Given the description of an element on the screen output the (x, y) to click on. 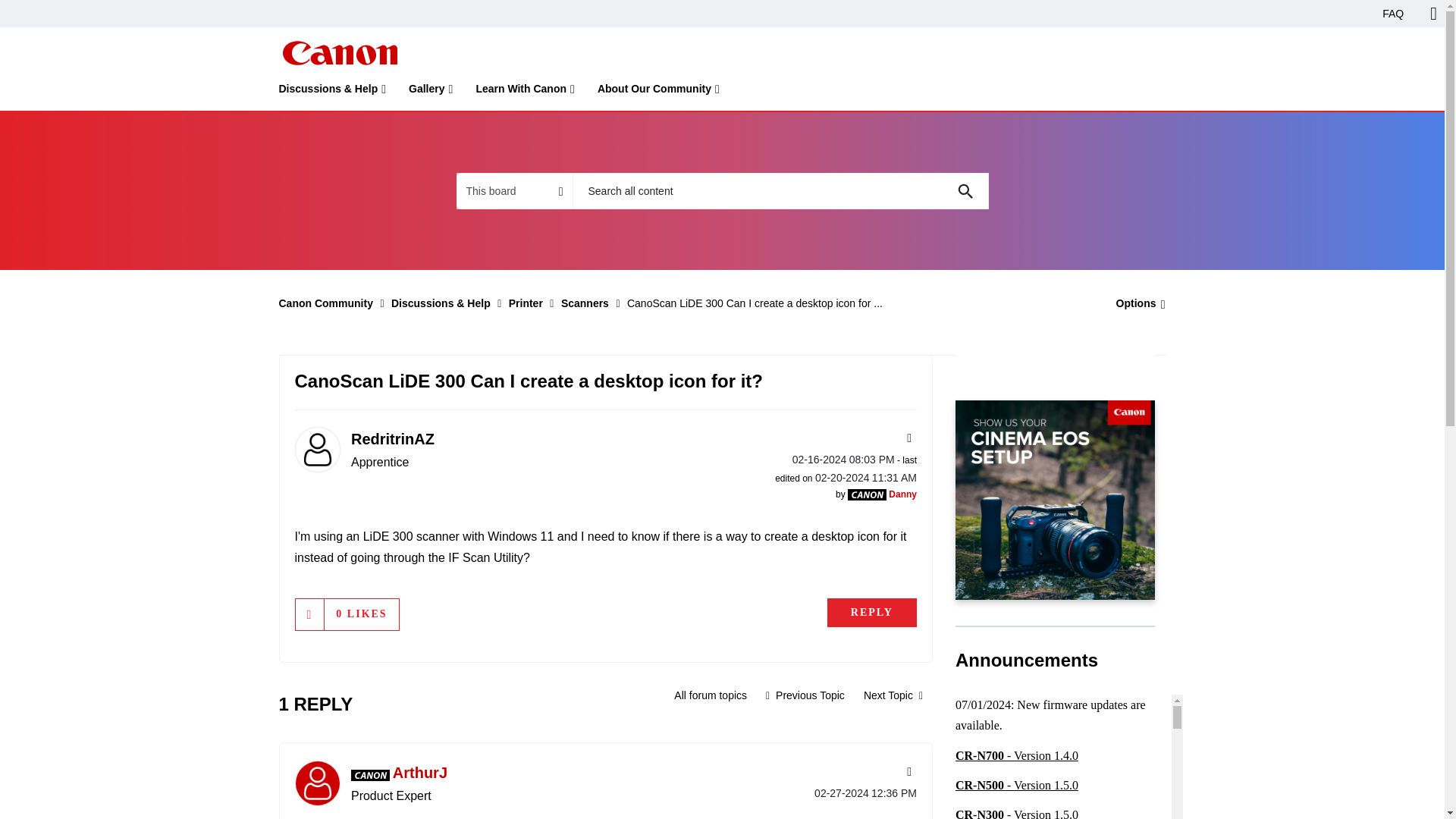
Canon LiDE 210 error message 2.179.12 - OS Catalina 10.15.7 (804, 695)
Scanners (710, 695)
Show option menu (1136, 303)
Learn With Canon (525, 91)
Moderator (866, 494)
Canon Community (339, 53)
About Our Community (657, 91)
Gallery (430, 91)
Search (964, 190)
RedritrinAZ (316, 449)
Search Granularity (514, 190)
Search (964, 190)
Search (780, 190)
Search (964, 190)
FAQ (1393, 13)
